Given the description of an element on the screen output the (x, y) to click on. 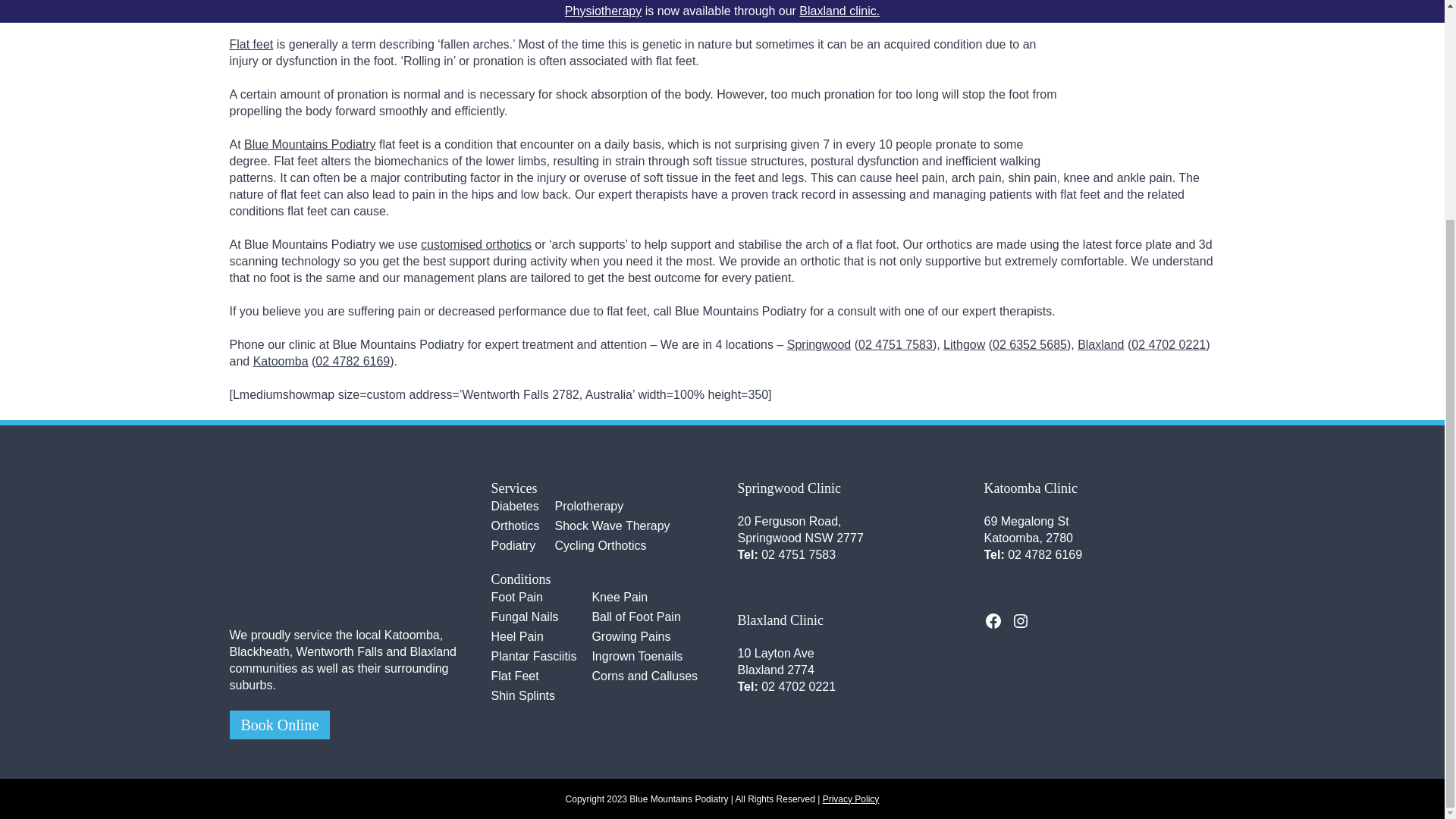
flat feet Wentworth Falls, 2782 (1146, 94)
